Given the description of an element on the screen output the (x, y) to click on. 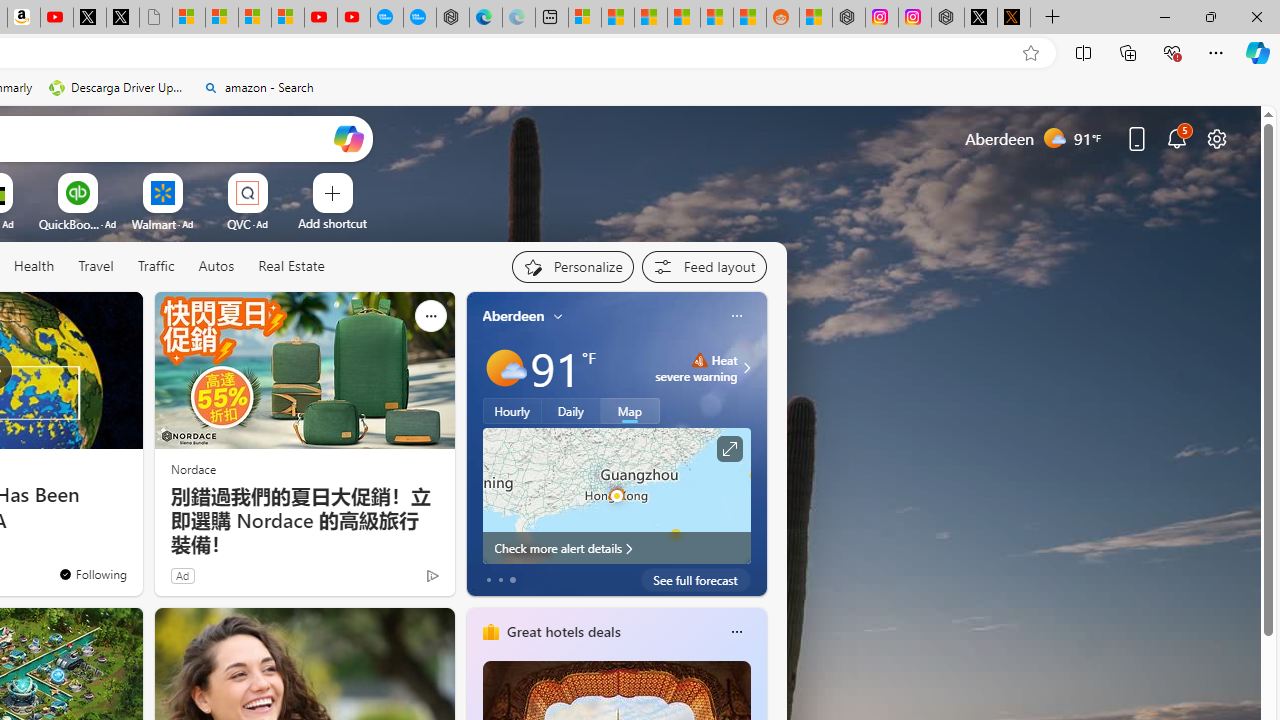
tab-1 (500, 579)
Untitled (155, 17)
My location (558, 315)
Autos (216, 267)
Health (33, 267)
